Given the description of an element on the screen output the (x, y) to click on. 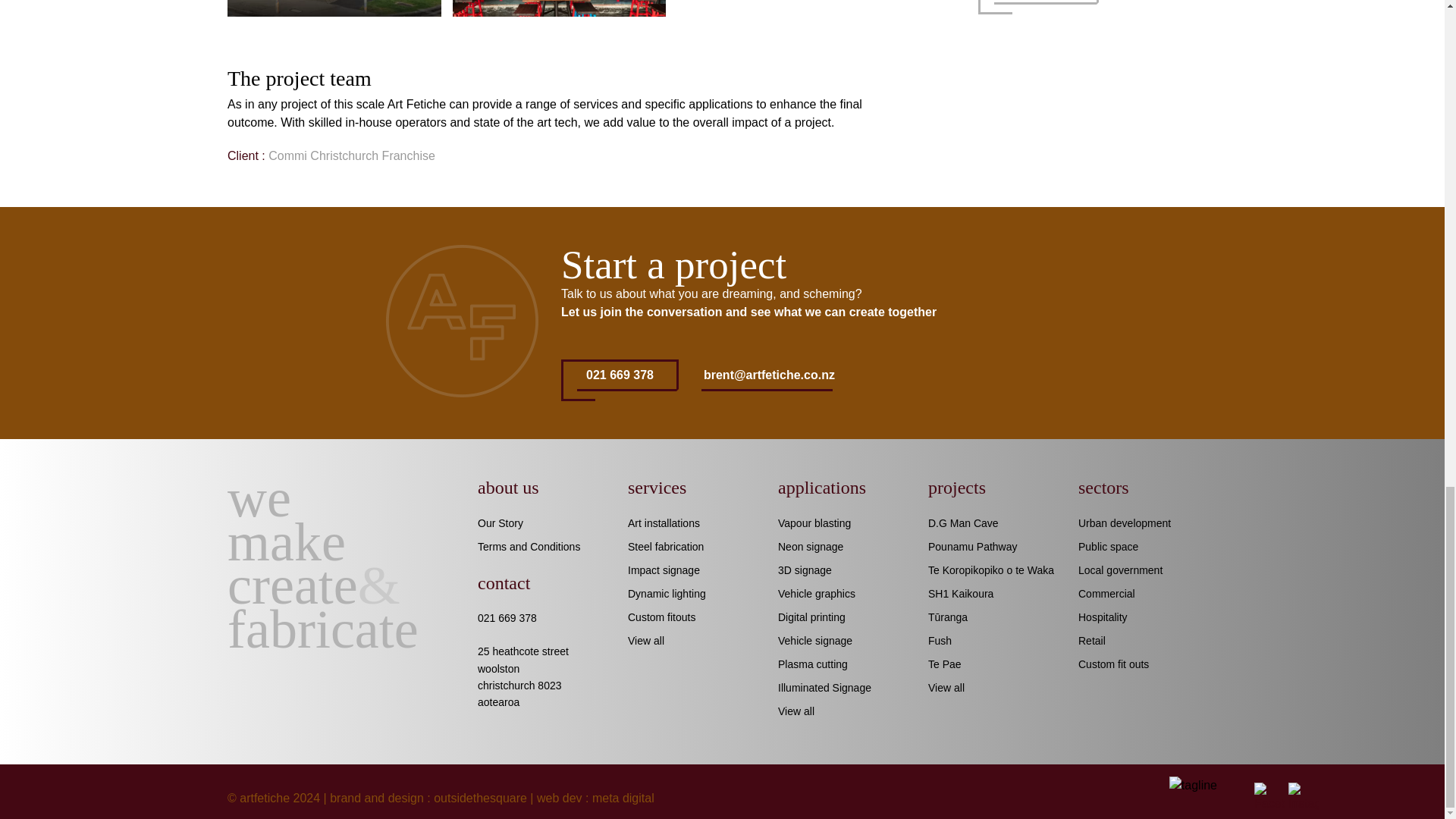
Facebook (1268, 797)
Instagram (1303, 797)
